Given the description of an element on the screen output the (x, y) to click on. 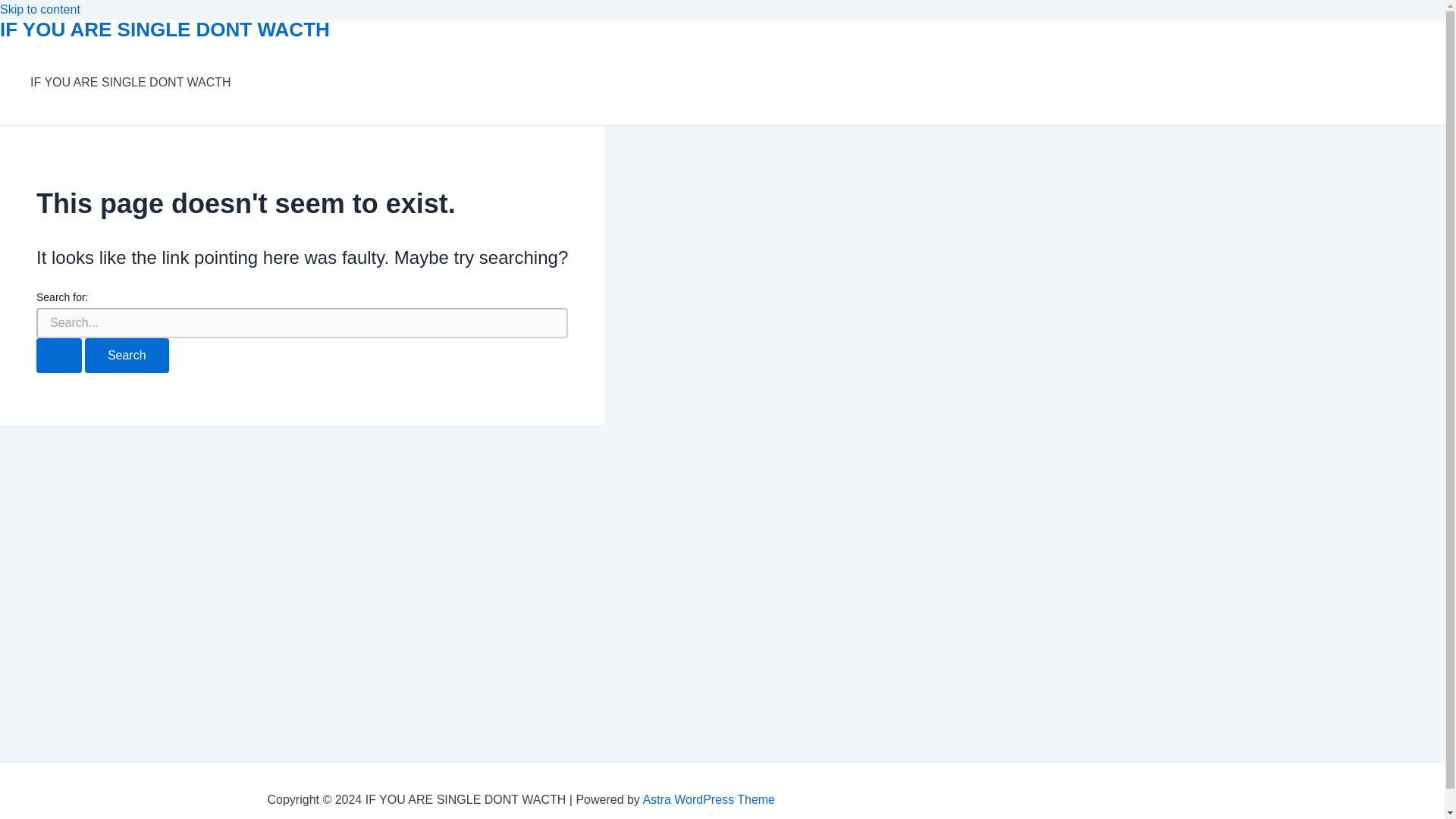
Search (126, 355)
Search (126, 355)
IF YOU ARE SINGLE DONT WACTH (165, 29)
IF YOU ARE SINGLE DONT WACTH (130, 82)
Astra WordPress Theme (708, 799)
Skip to content (40, 9)
Skip to content (40, 9)
Search (126, 355)
